Given the description of an element on the screen output the (x, y) to click on. 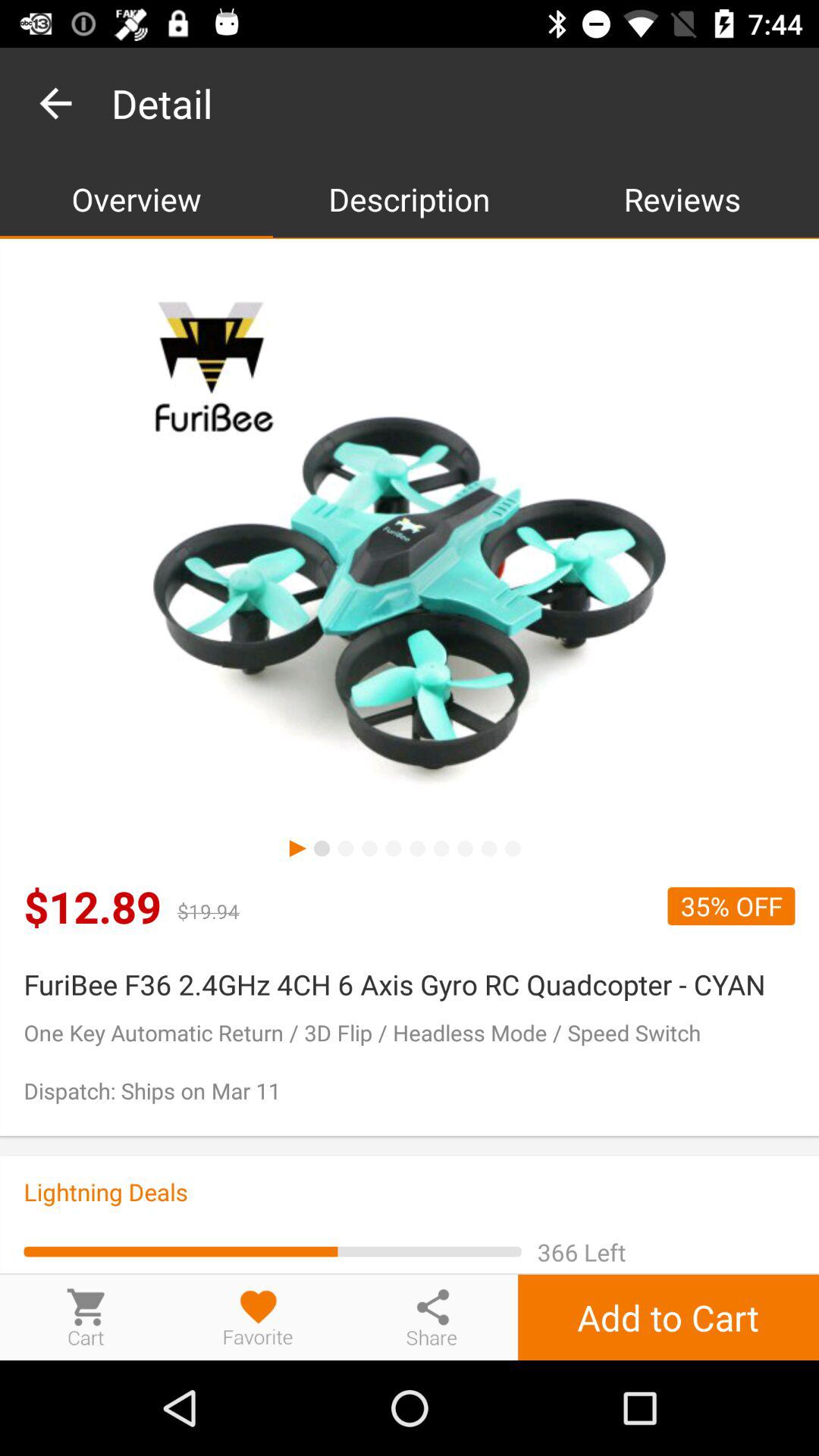
share (431, 1317)
